Given the description of an element on the screen output the (x, y) to click on. 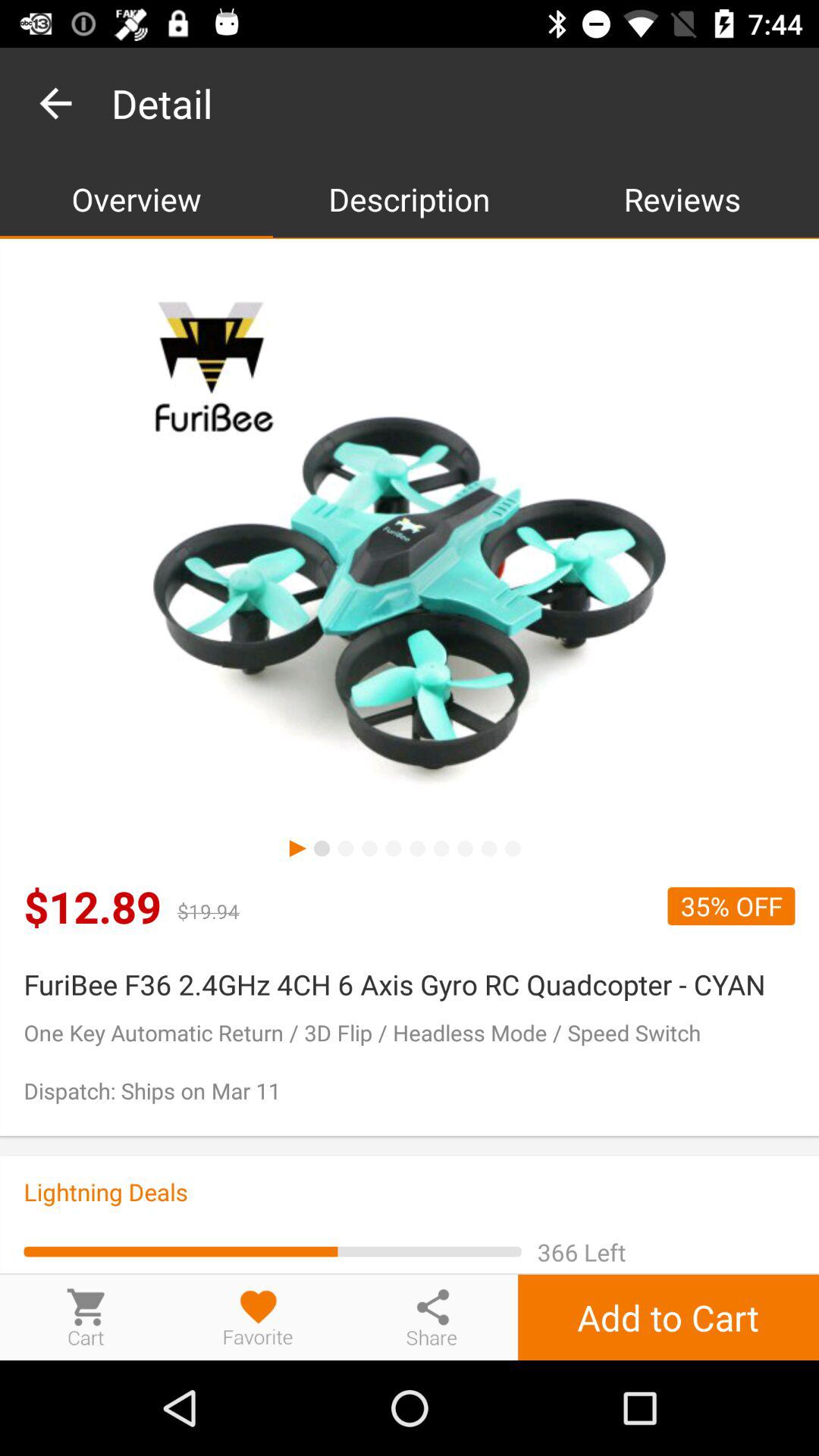
share (431, 1317)
